Given the description of an element on the screen output the (x, y) to click on. 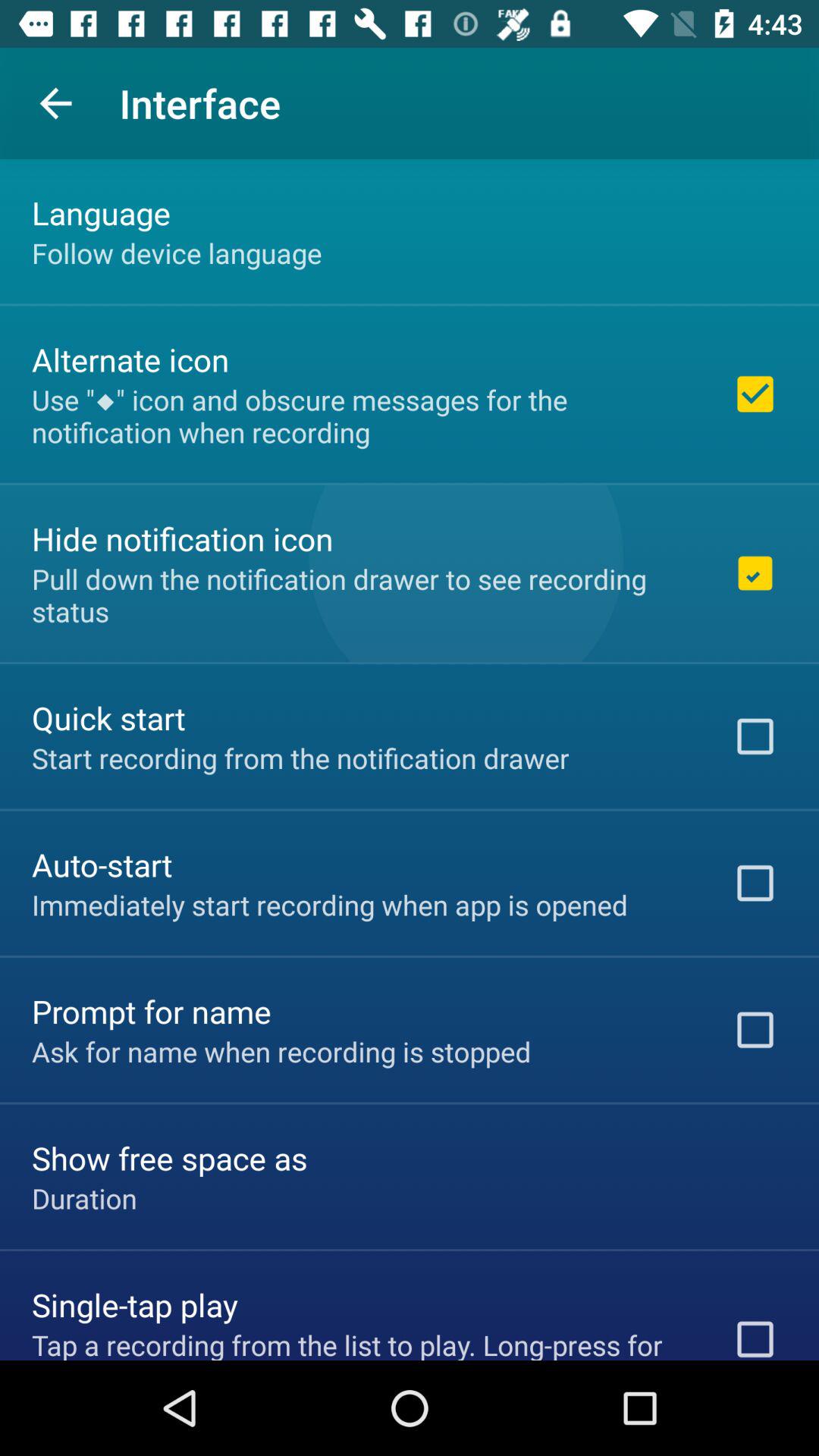
click item to the left of interface item (55, 103)
